Given the description of an element on the screen output the (x, y) to click on. 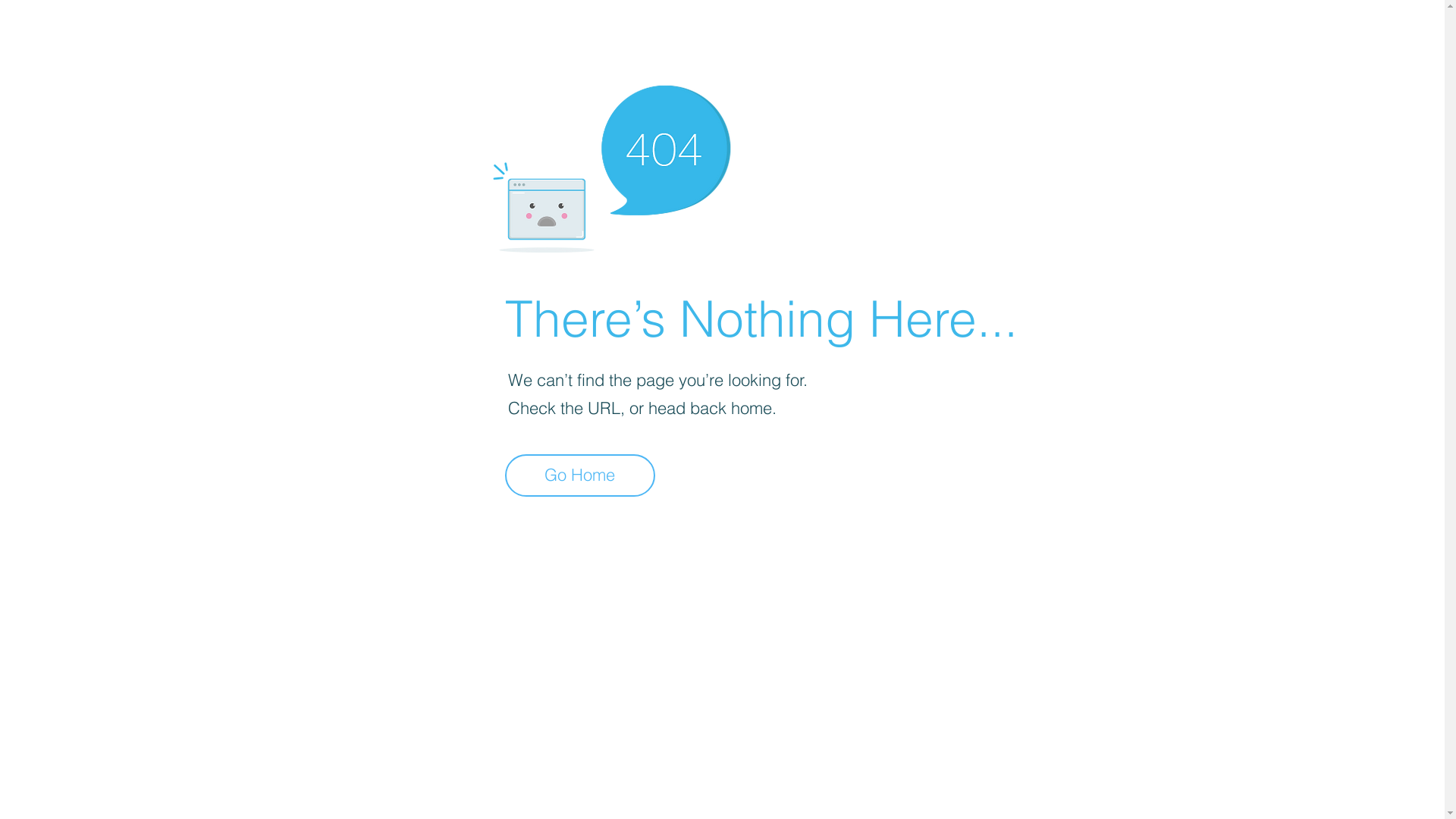
404-icon_2.png Element type: hover (610, 164)
Go Home Element type: text (580, 475)
